Given the description of an element on the screen output the (x, y) to click on. 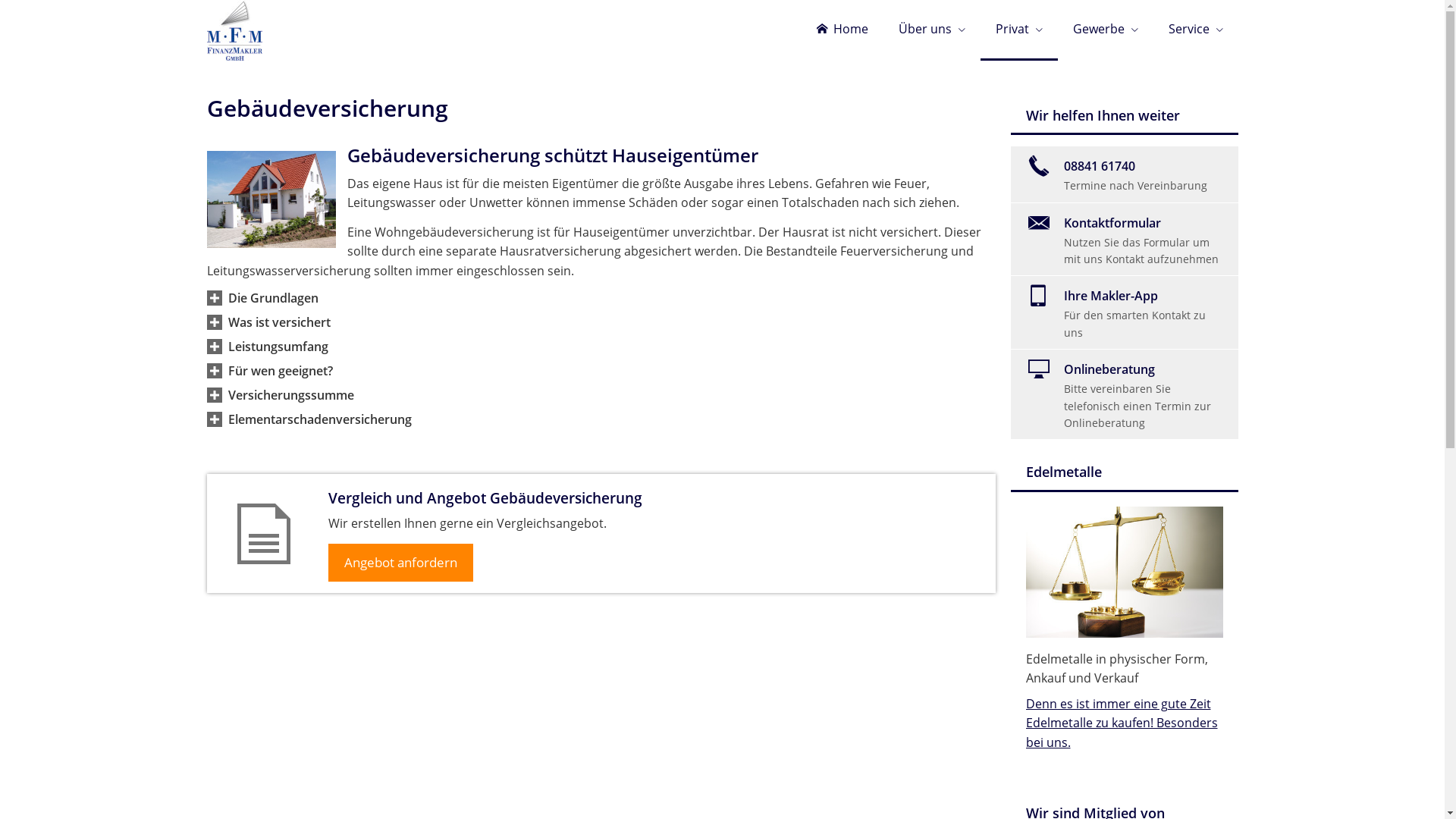
Privat Element type: text (1018, 30)
Angebot anfordern Element type: text (399, 562)
Home Element type: text (841, 30)
Service Element type: text (1194, 30)
Gewerbe Element type: text (1104, 30)
